Given the description of an element on the screen output the (x, y) to click on. 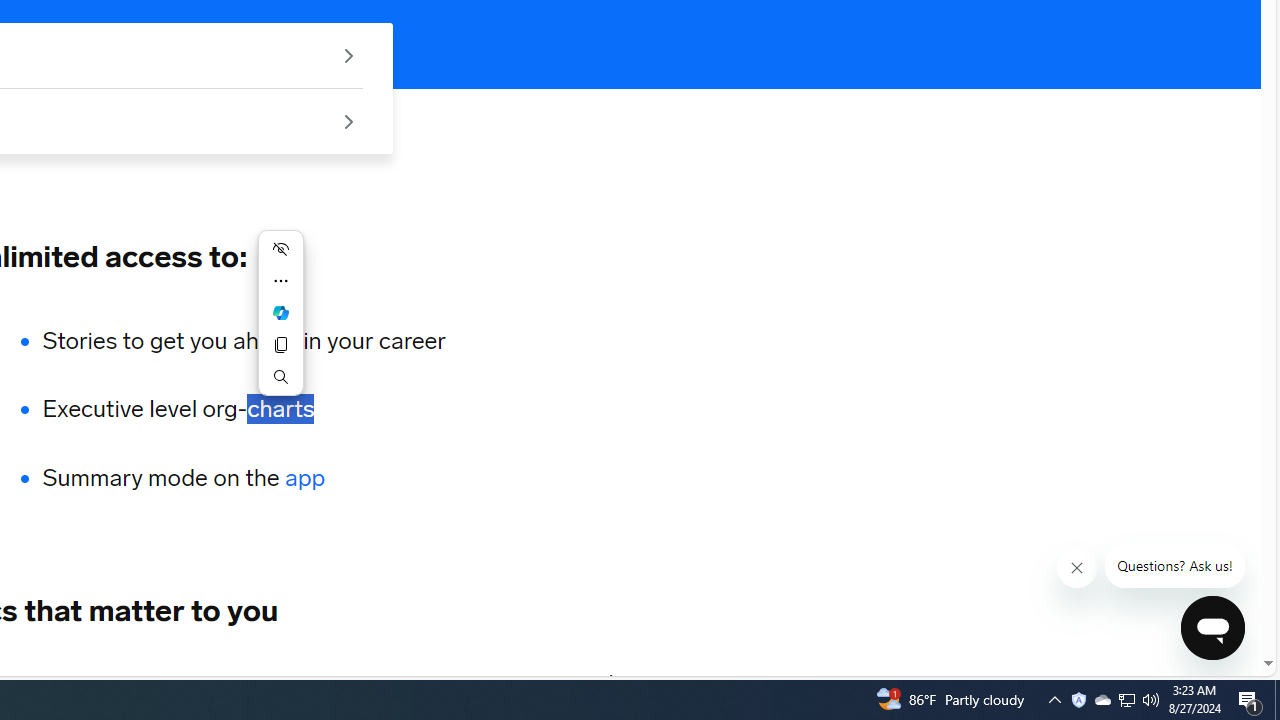
STRATEGY (498, 681)
Questions? Ask us! (1174, 566)
Open messaging window (1213, 628)
Ask Copilot (280, 312)
Summary mode on the app (243, 478)
Stories to get you ahead in your career (243, 340)
